Given the description of an element on the screen output the (x, y) to click on. 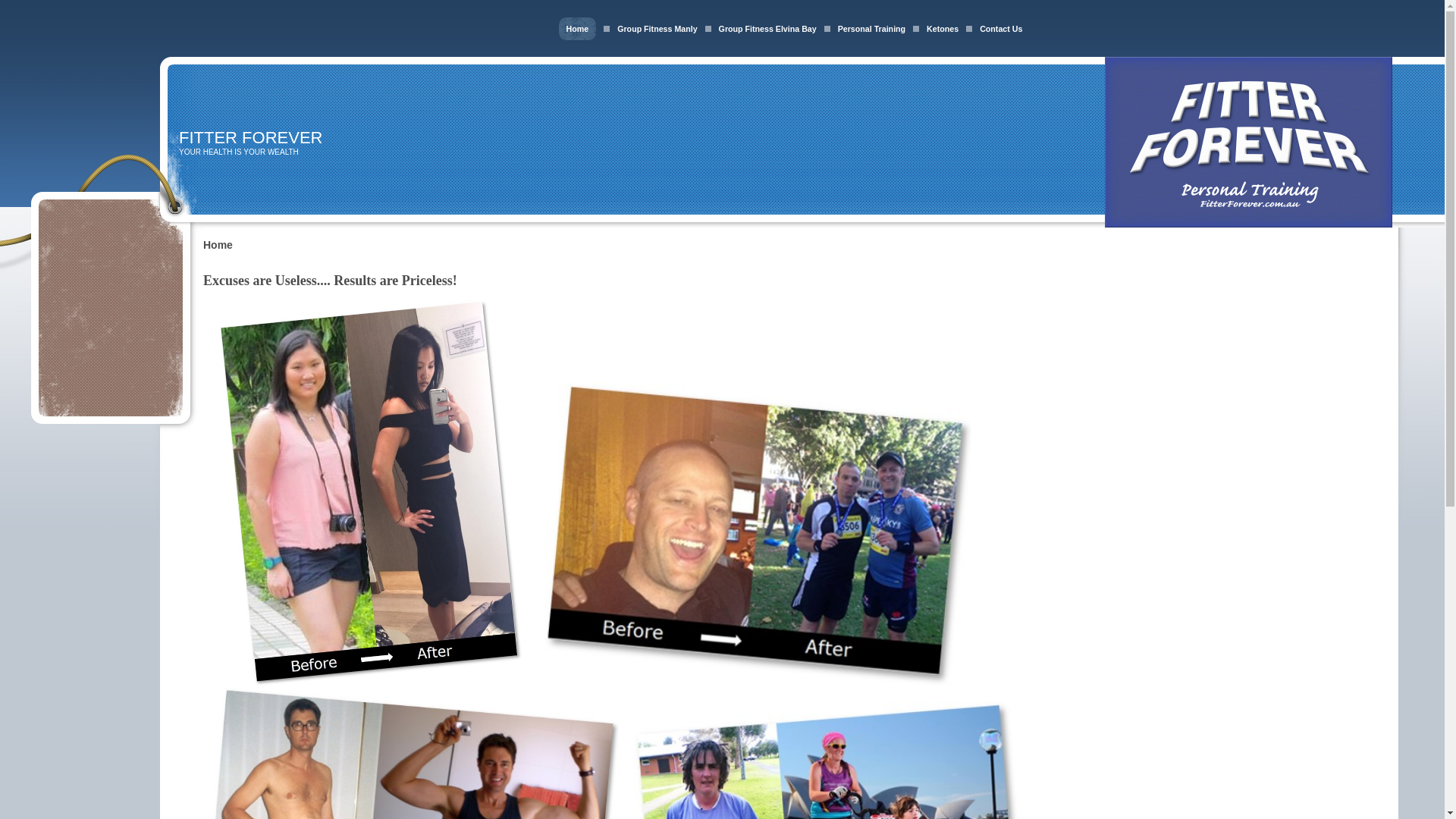
Home Element type: text (577, 28)
Group Fitness Manly Element type: text (656, 28)
Group Fitness Elvina Bay Element type: text (767, 28)
Contact Us Element type: text (1000, 28)
Ketones Element type: text (942, 28)
Personal Training Element type: text (871, 28)
